Given the description of an element on the screen output the (x, y) to click on. 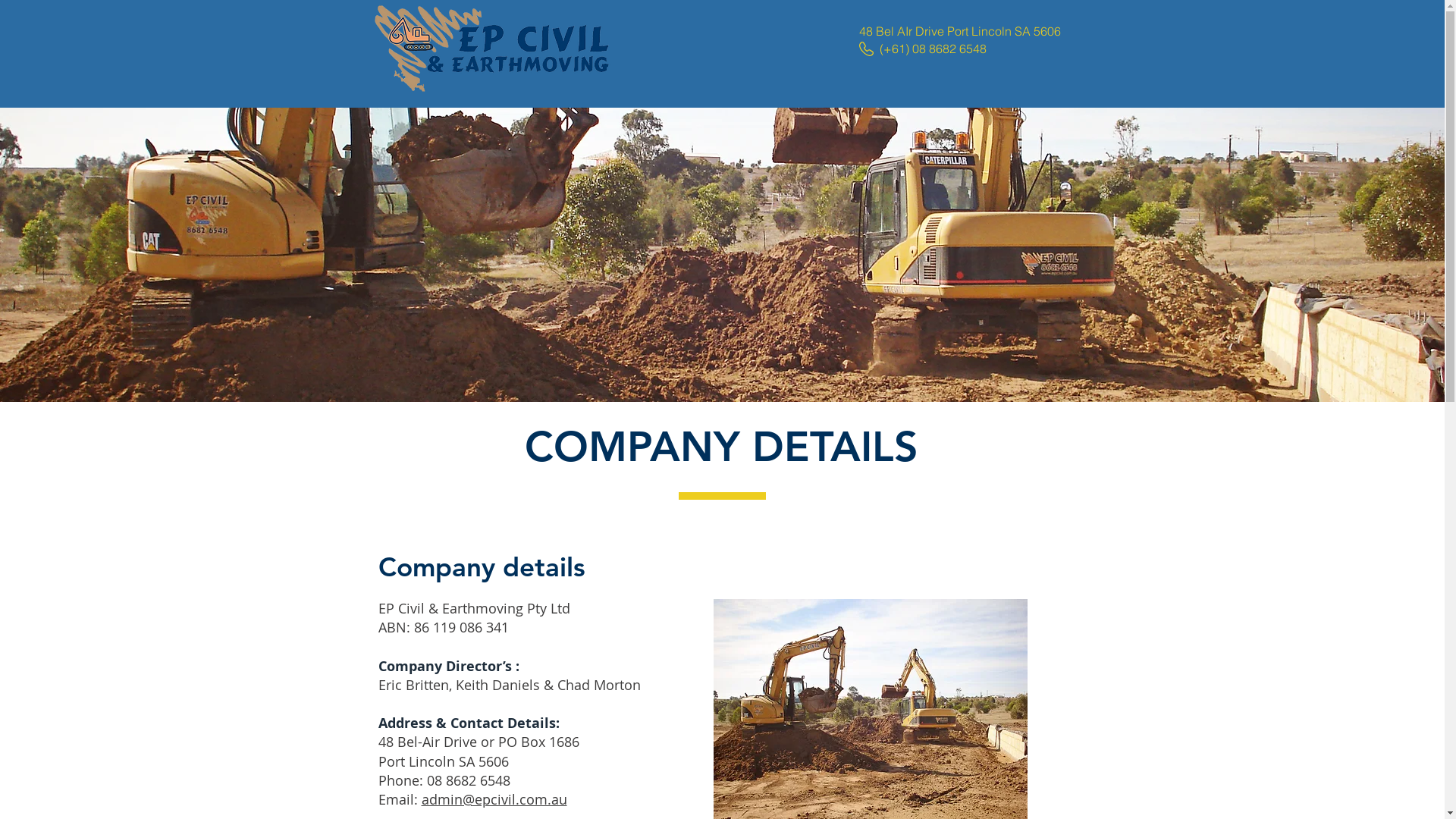
admin@epcivil.com.au Element type: text (494, 799)
EPCivil-logo.png Element type: hover (491, 48)
